Given the description of an element on the screen output the (x, y) to click on. 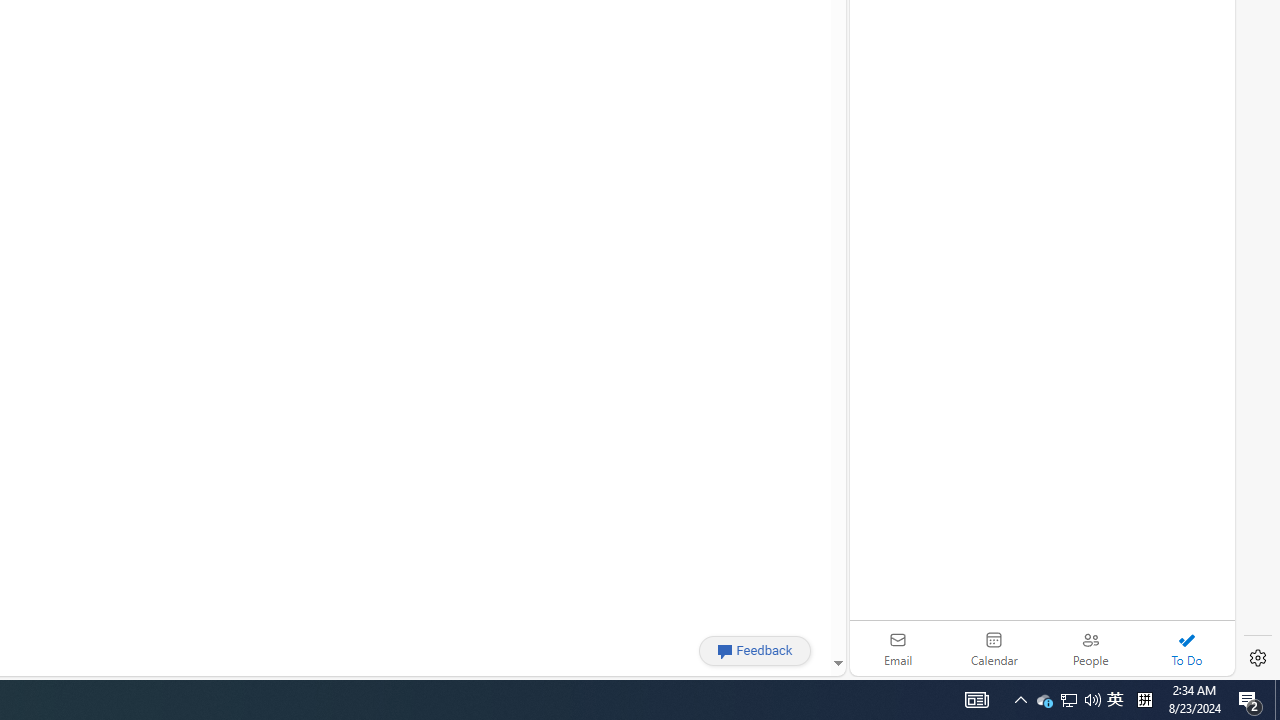
Calendar. Date today is 22 (994, 648)
Email (898, 648)
Feedback (754, 650)
People (1090, 648)
To Do (1186, 648)
Settings (1258, 658)
